Given the description of an element on the screen output the (x, y) to click on. 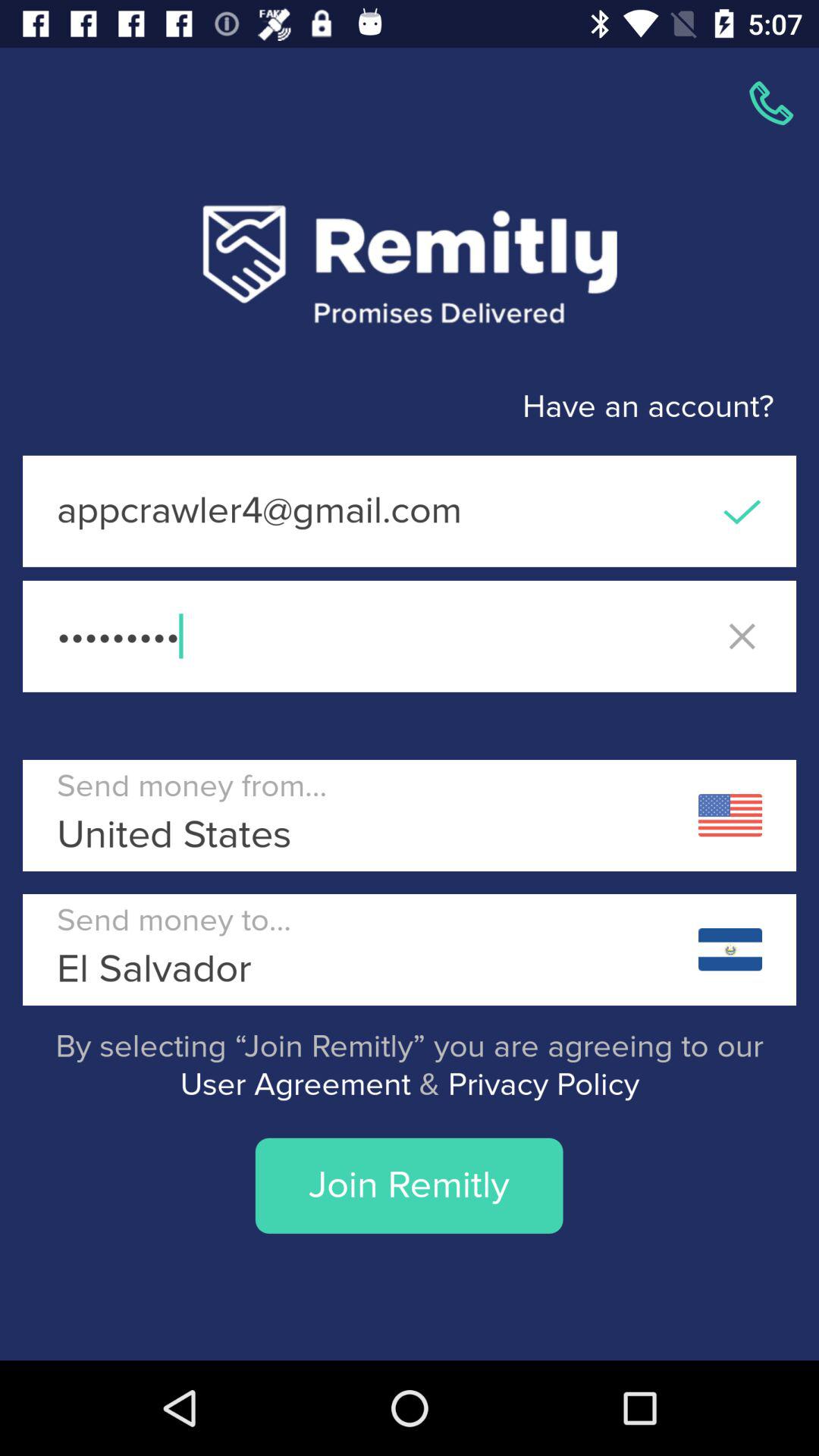
launch the item below appcrawler4@gmail.com item (409, 636)
